Given the description of an element on the screen output the (x, y) to click on. 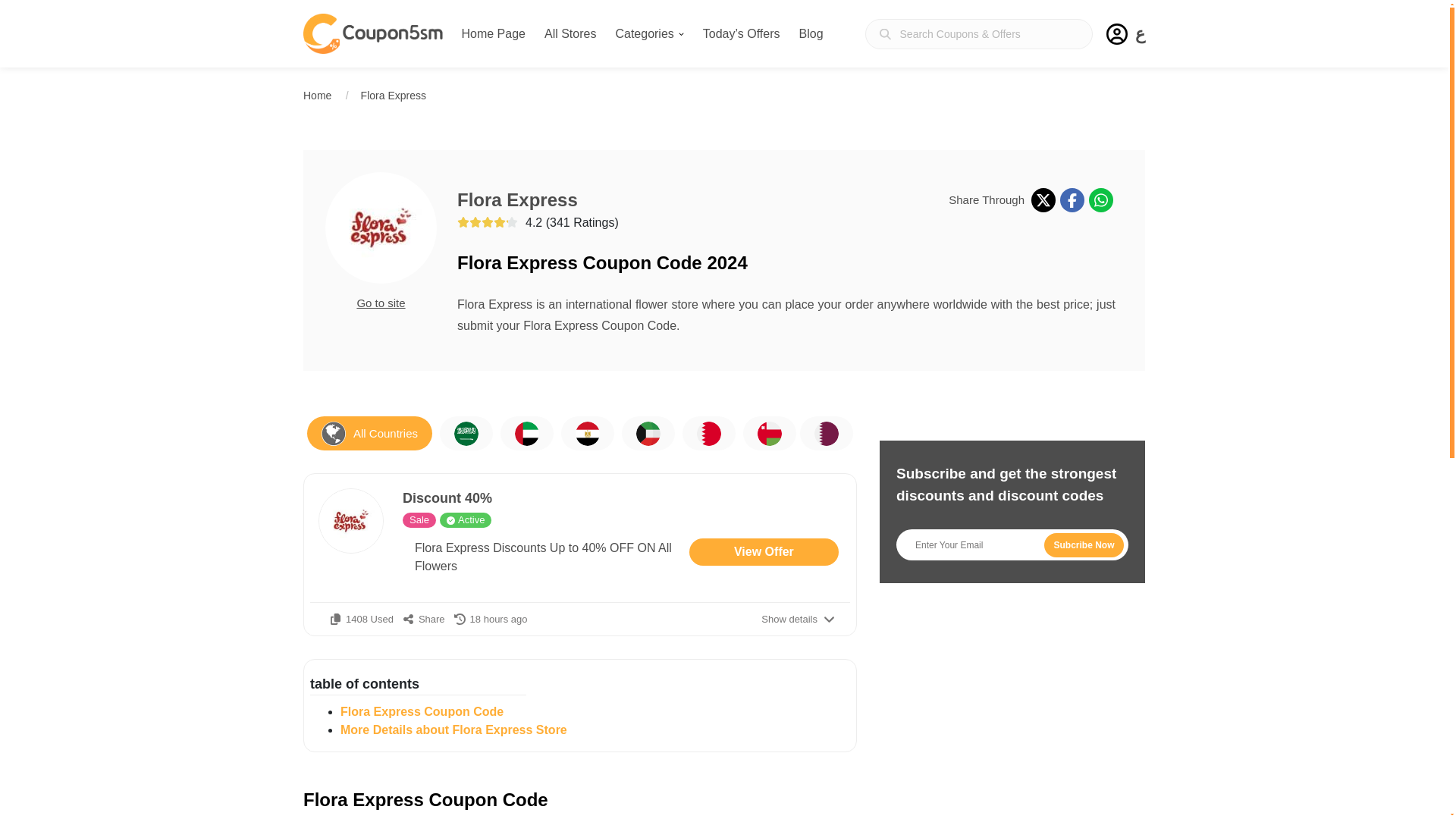
Categories (648, 33)
1408 Used (361, 619)
Categories (648, 33)
Home Page (493, 33)
Home Page (493, 33)
Home (316, 95)
Go to site (380, 303)
All Stores (569, 33)
Blog (811, 33)
All Stores (569, 33)
